Given the description of an element on the screen output the (x, y) to click on. 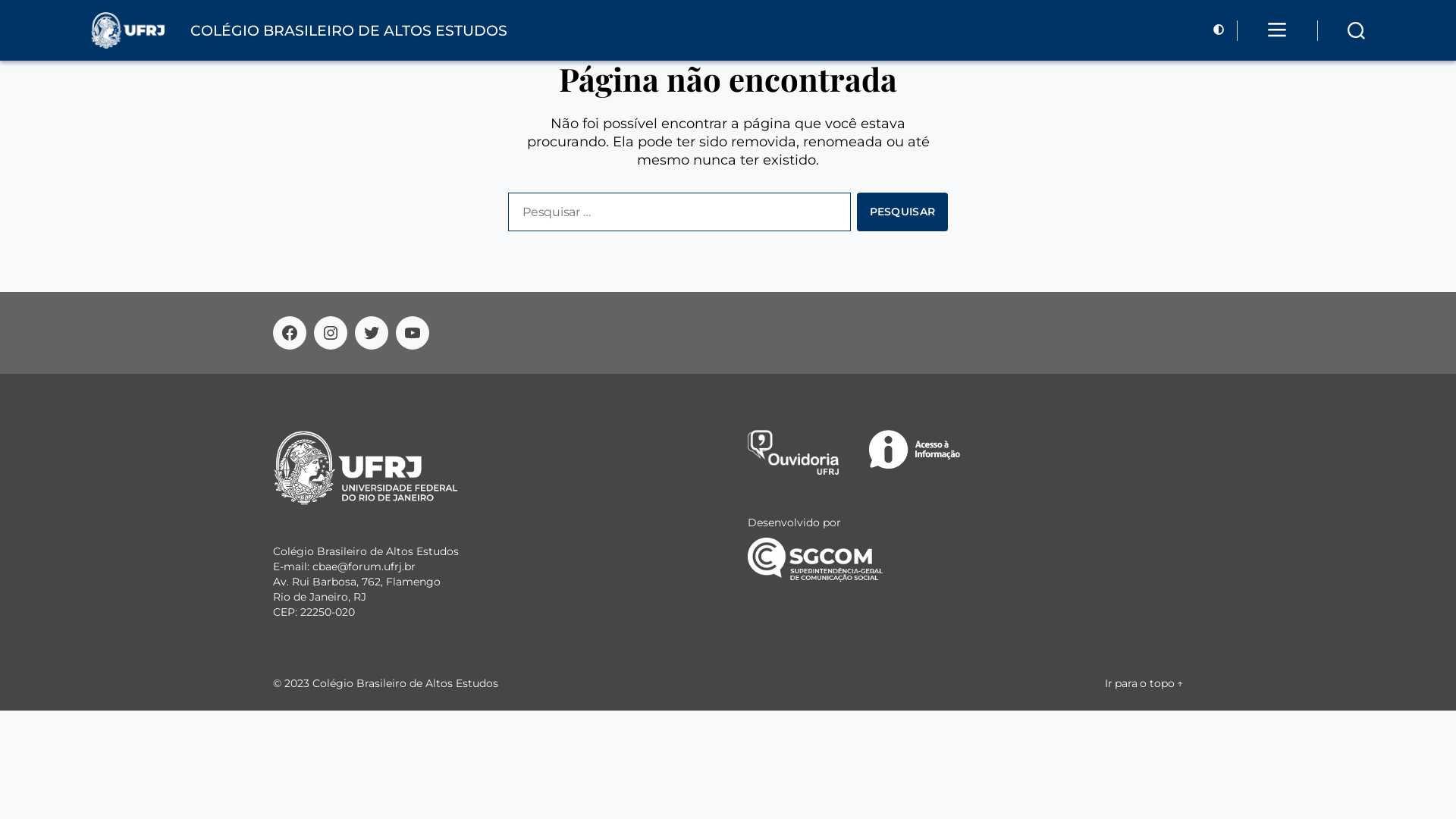
Facebook Element type: text (289, 332)
Twitter Element type: text (371, 332)
Instagram Element type: text (330, 332)
YouTube Element type: text (412, 332)
Pesquisar Element type: text (901, 211)
